Given the description of an element on the screen output the (x, y) to click on. 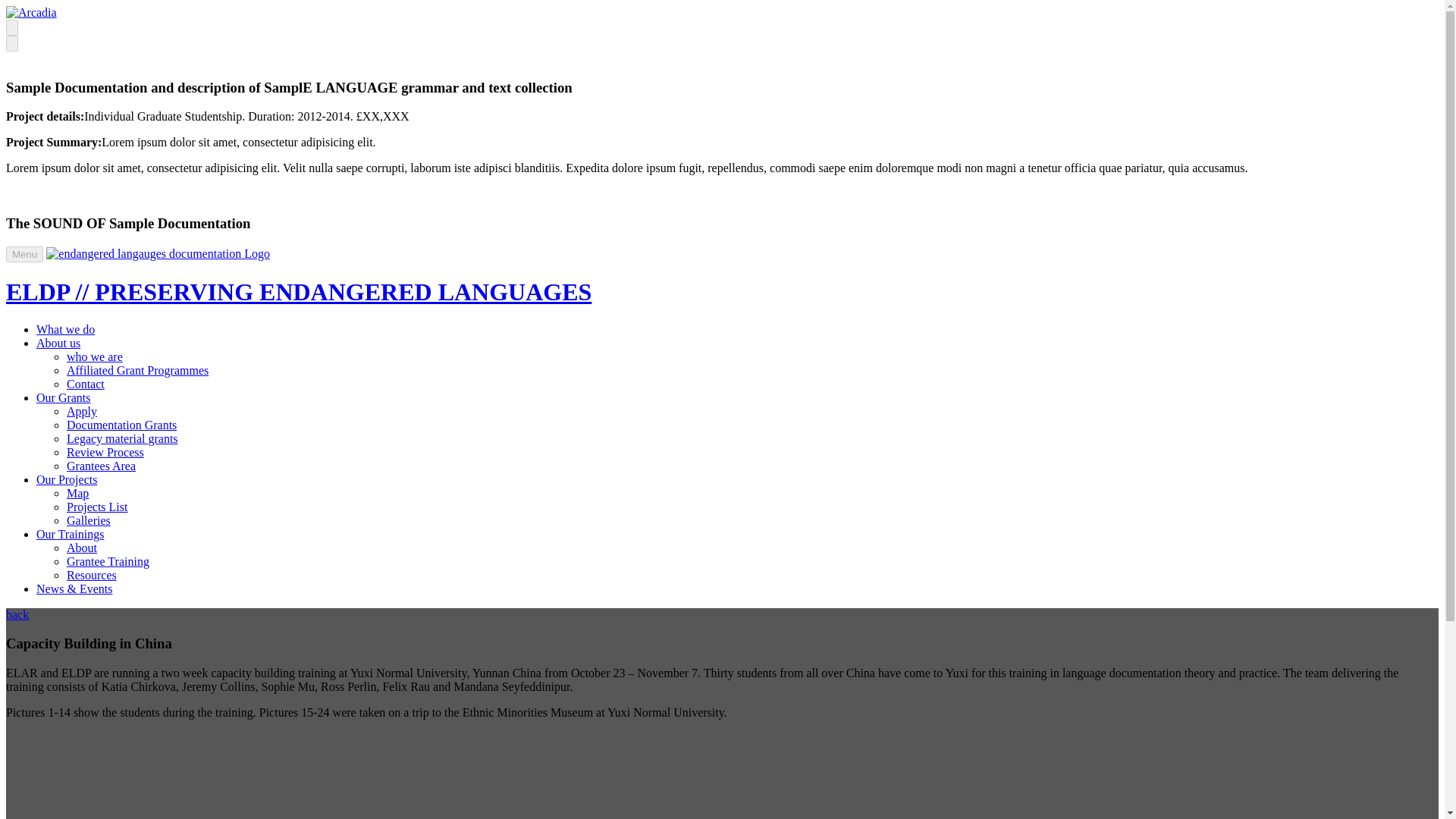
Map (77, 492)
Projects List (97, 506)
Documentation Grants (121, 424)
Resources (91, 574)
Grantees Area (100, 465)
back (17, 614)
Resources (91, 574)
Our Trainings (69, 533)
Our Projects (66, 479)
Apply (81, 410)
